Given the description of an element on the screen output the (x, y) to click on. 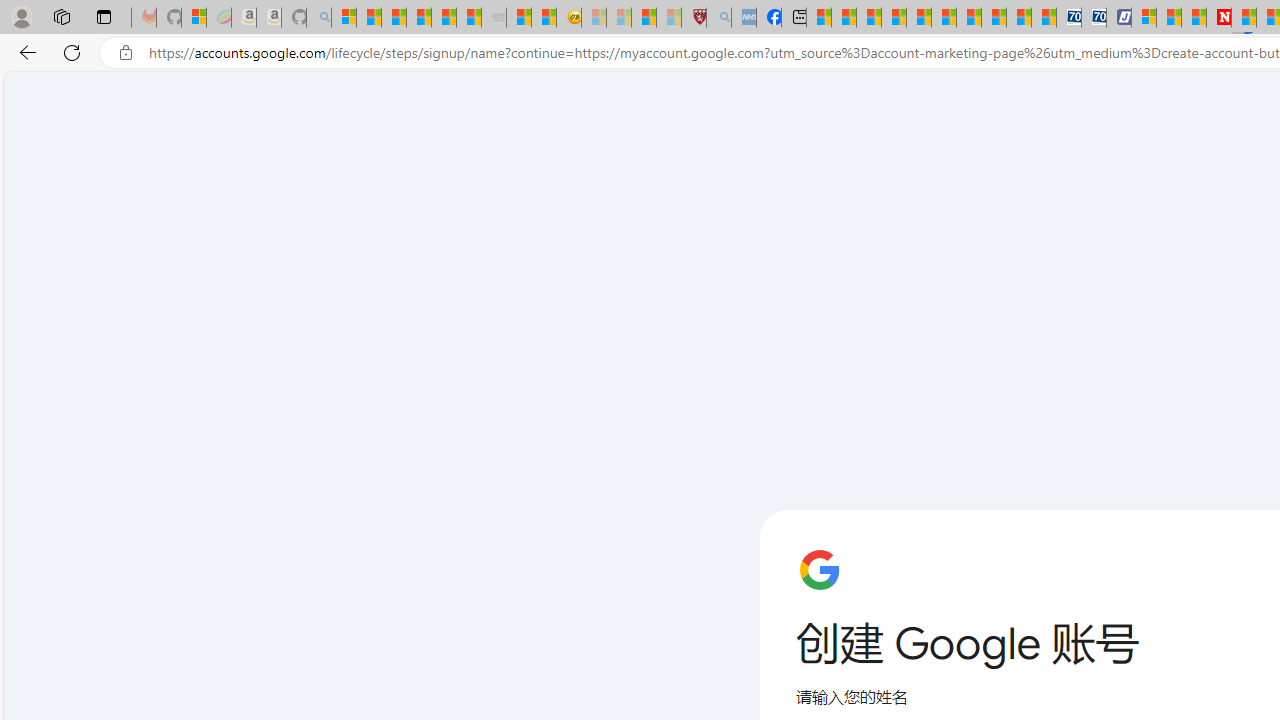
Climate Damage Becomes Too Severe To Reverse (893, 17)
